Given the description of an element on the screen output the (x, y) to click on. 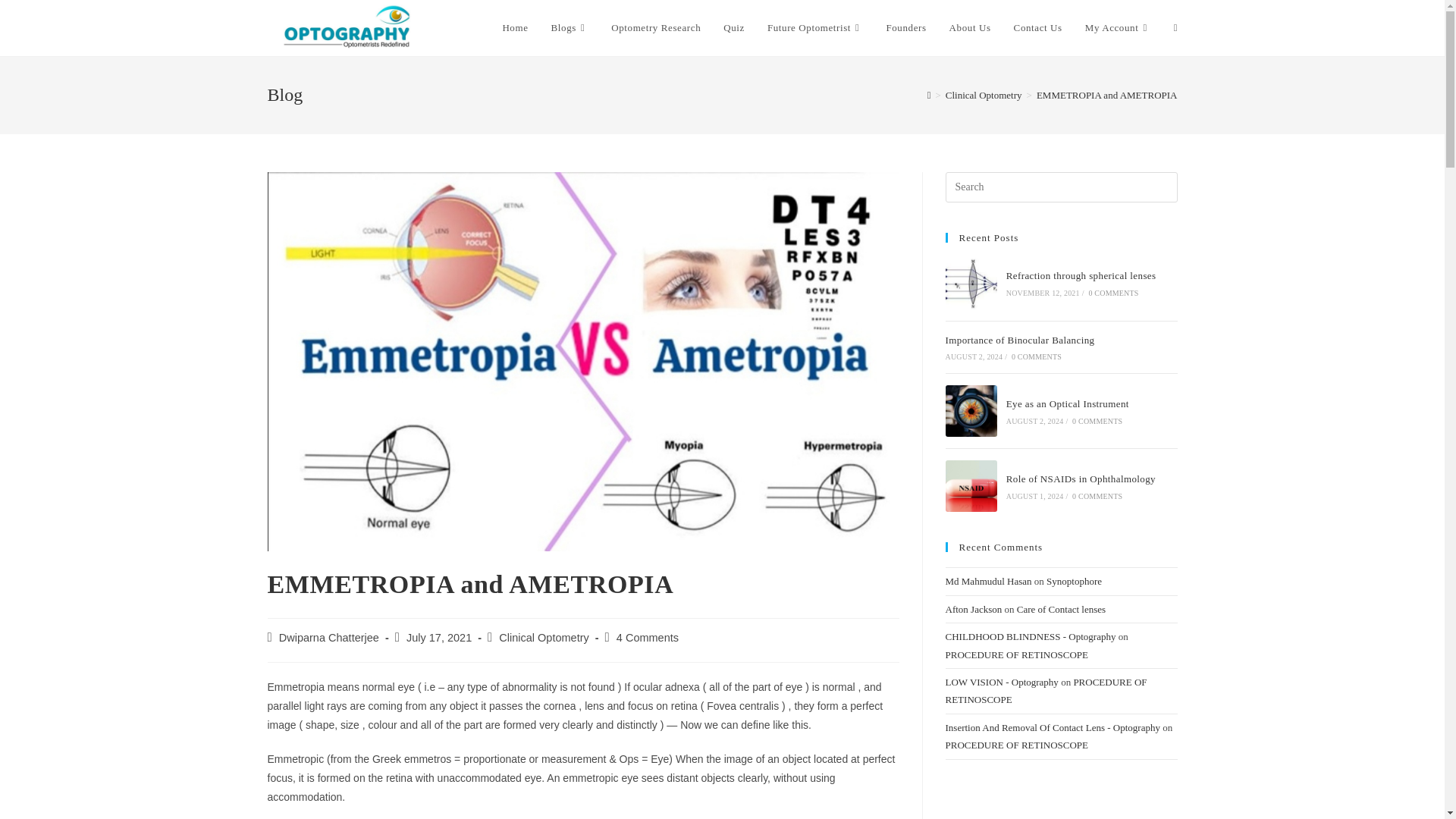
Posts by Dwiparna Chatterjee (328, 637)
Eye as an Optical Instrument (969, 410)
Contact Us (1038, 28)
Refraction through spherical lenses (969, 283)
Dwiparna Chatterjee (328, 637)
My Account (1117, 28)
Role of NSAIDs in Ophthalmology (969, 485)
Blogs (569, 28)
Founders (906, 28)
4 Comments (646, 637)
Future Optometrist (815, 28)
Clinical Optometry (983, 94)
About Us (970, 28)
EMMETROPIA and AMETROPIA (1106, 94)
Clinical Optometry (543, 637)
